Given the description of an element on the screen output the (x, y) to click on. 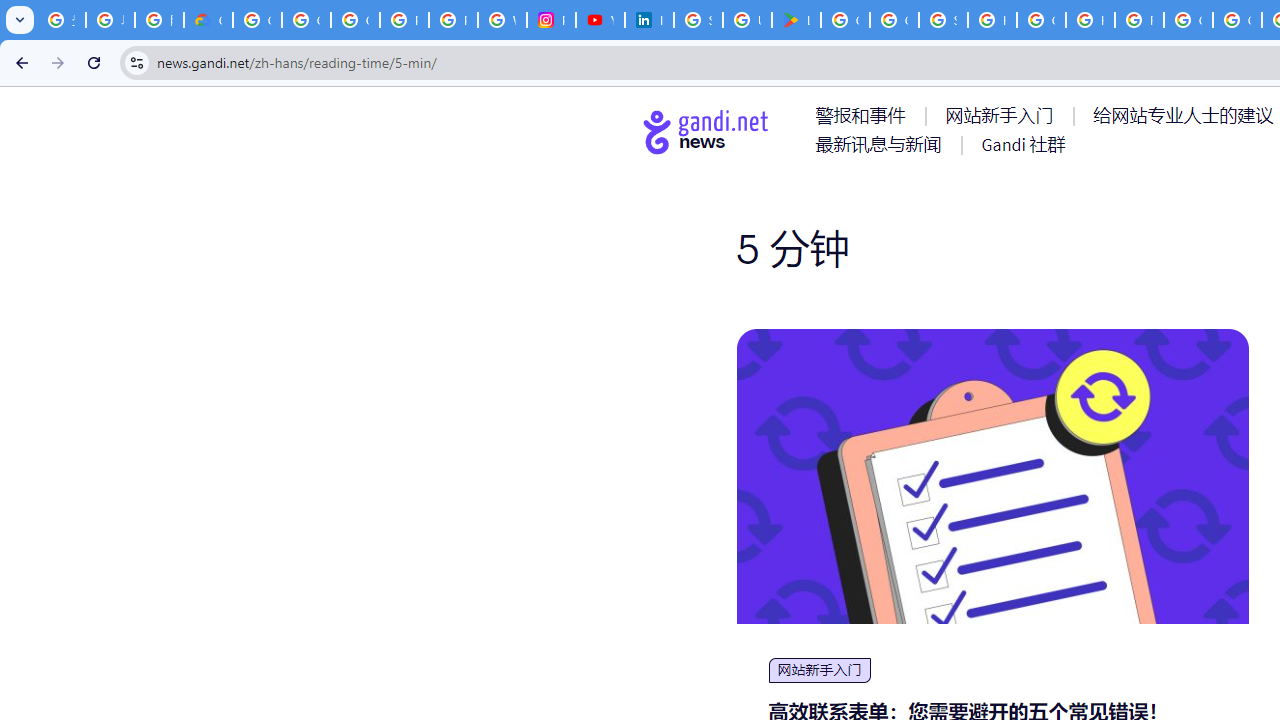
AutomationID: menu-item-77762 (1003, 115)
Privacy Help Center - Policies Help (452, 20)
Go to home (706, 131)
AutomationID: menu-item-77767 (1022, 143)
